Given the description of an element on the screen output the (x, y) to click on. 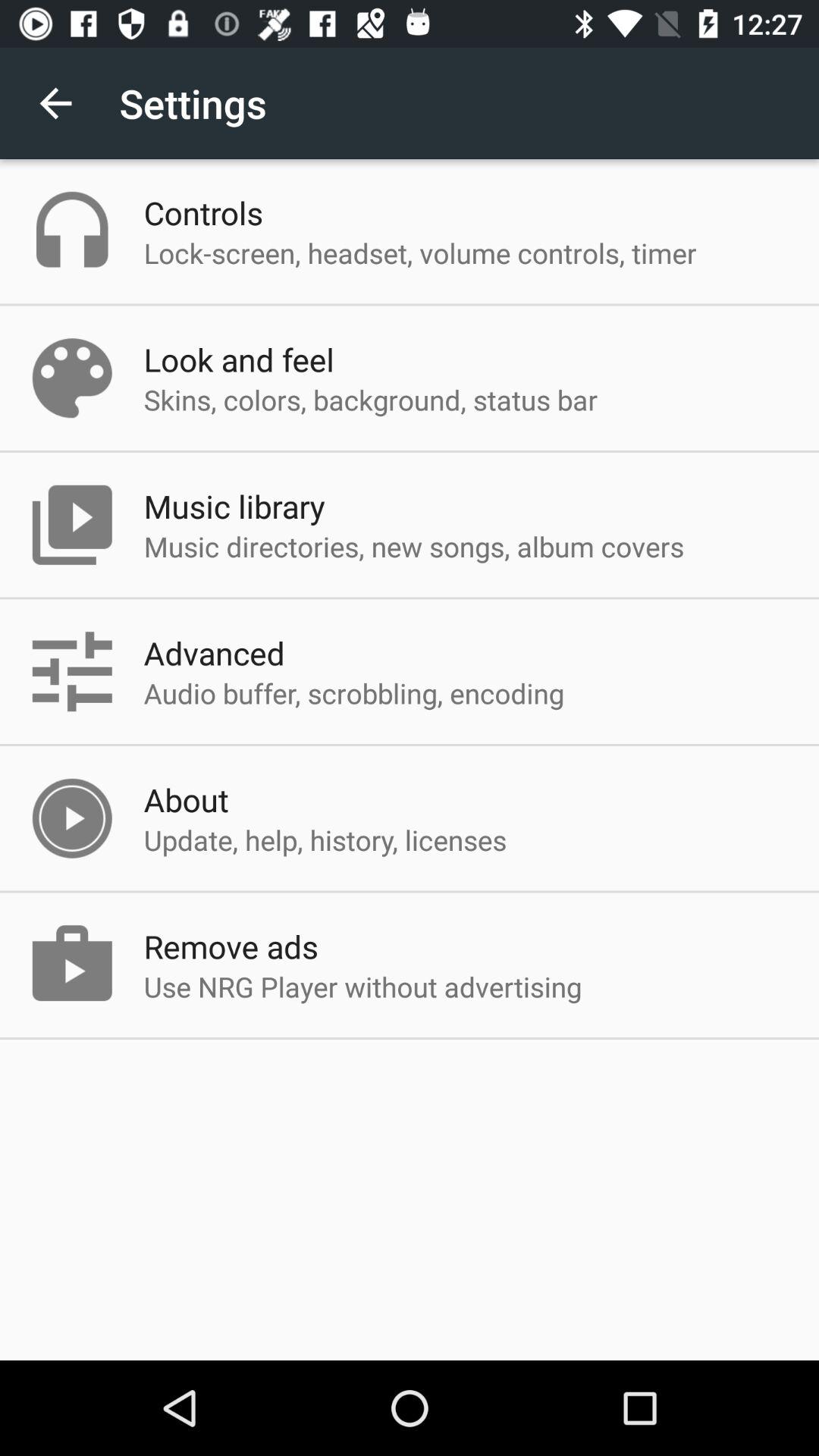
choose item above the audio buffer scrobbling (213, 652)
